Given the description of an element on the screen output the (x, y) to click on. 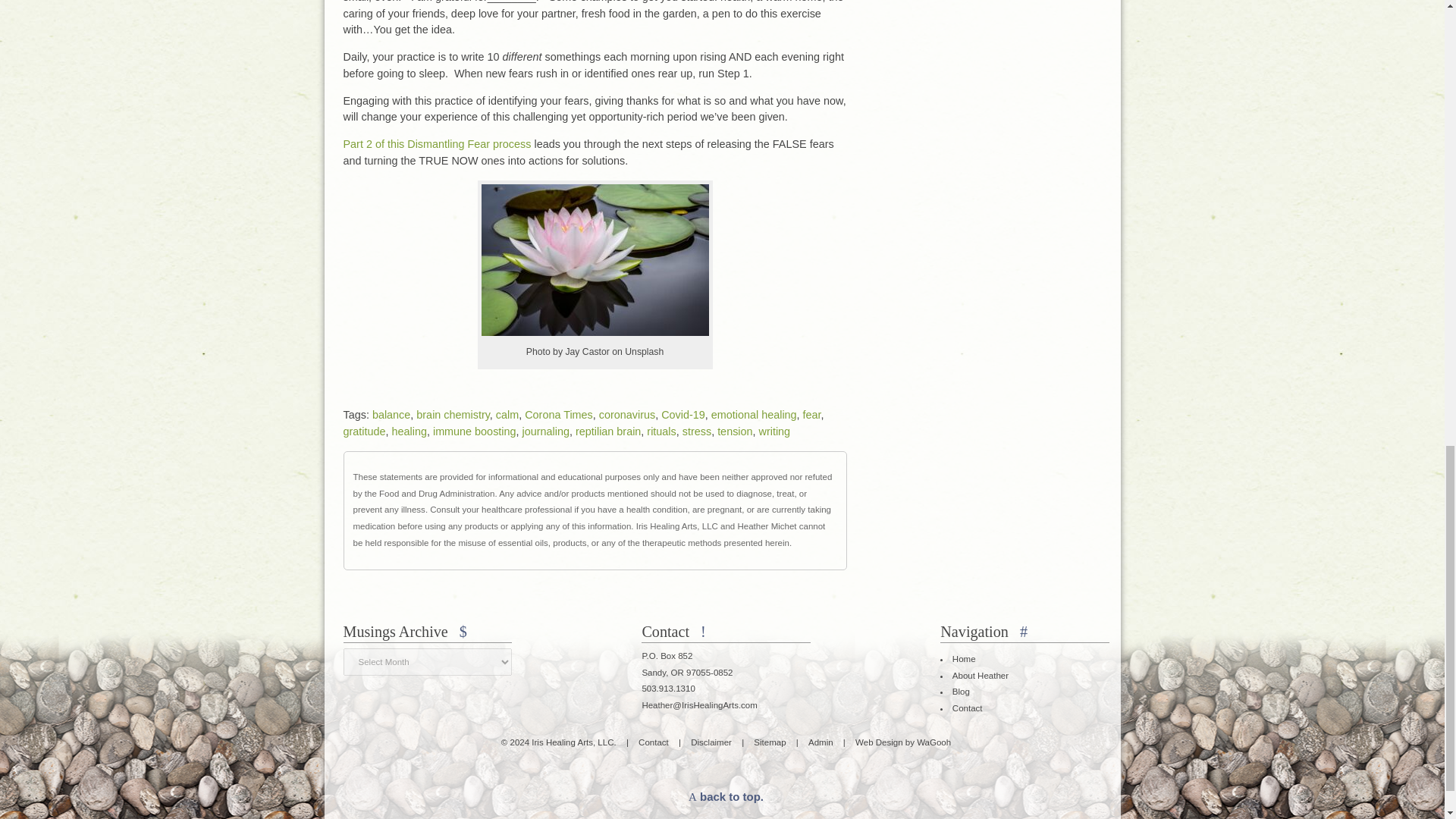
Web Design by WaGooh (903, 741)
balance (391, 414)
Corona Times (558, 414)
reptilian brain (607, 431)
rituals (660, 431)
gratitude (363, 431)
healing (408, 431)
Part 2 of this Dismantling Fear process (436, 143)
Covid-19 (682, 414)
fear (812, 414)
